Given the description of an element on the screen output the (x, y) to click on. 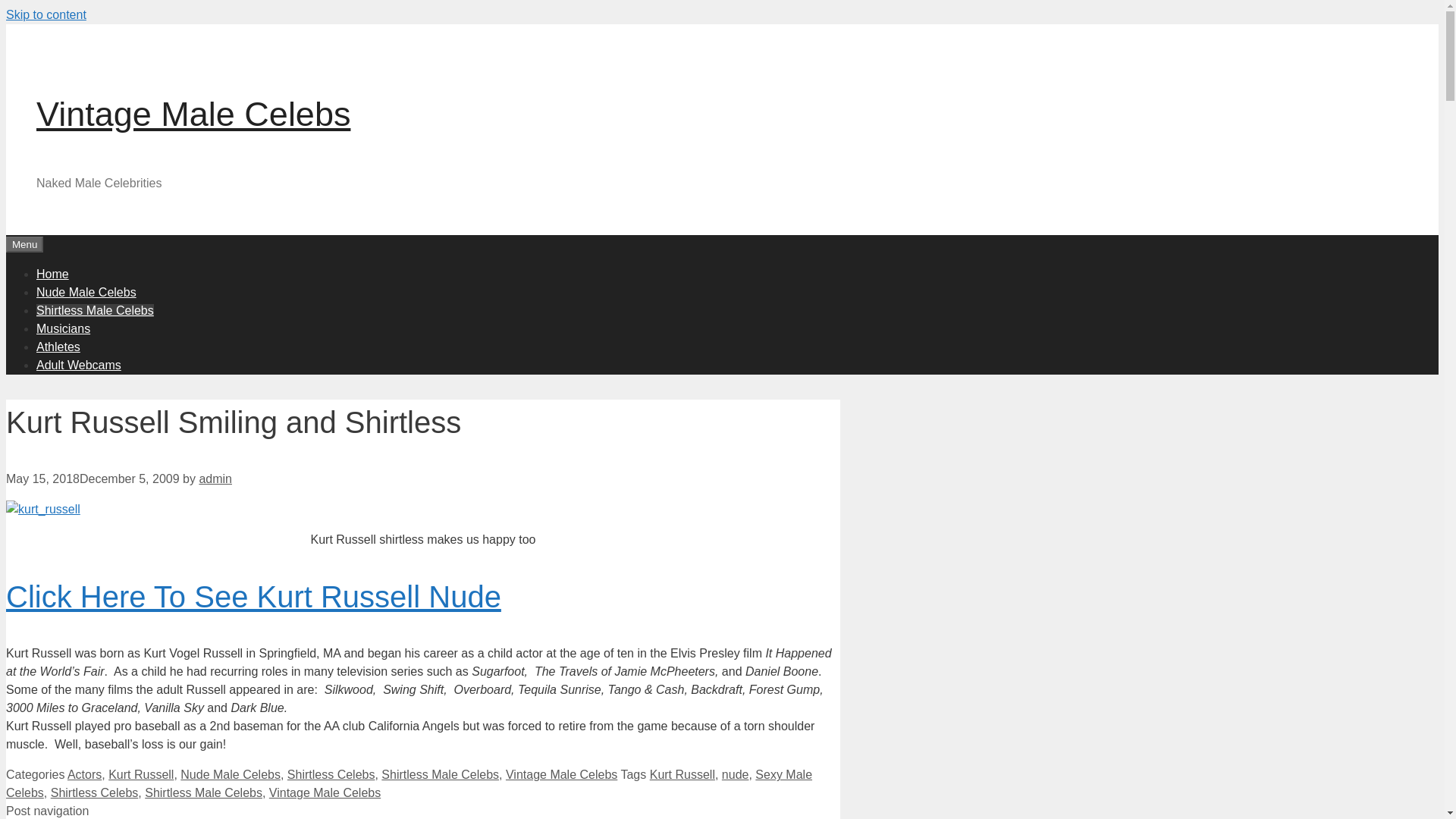
Vintage Male Celebs (561, 774)
Kurt Russell (681, 774)
Menu (24, 244)
admin (214, 478)
Musicians (63, 327)
View all posts by admin (214, 478)
Nude Male Celebs (230, 774)
Vintage Male Celebs (324, 792)
Nude Male Celebs (86, 291)
Shirtless Celebs (330, 774)
Adult Webcams (78, 364)
Shirtless Male Celebs (440, 774)
nude (735, 774)
Skip to content (45, 14)
Shirtless Male Celebs (203, 792)
